Given the description of an element on the screen output the (x, y) to click on. 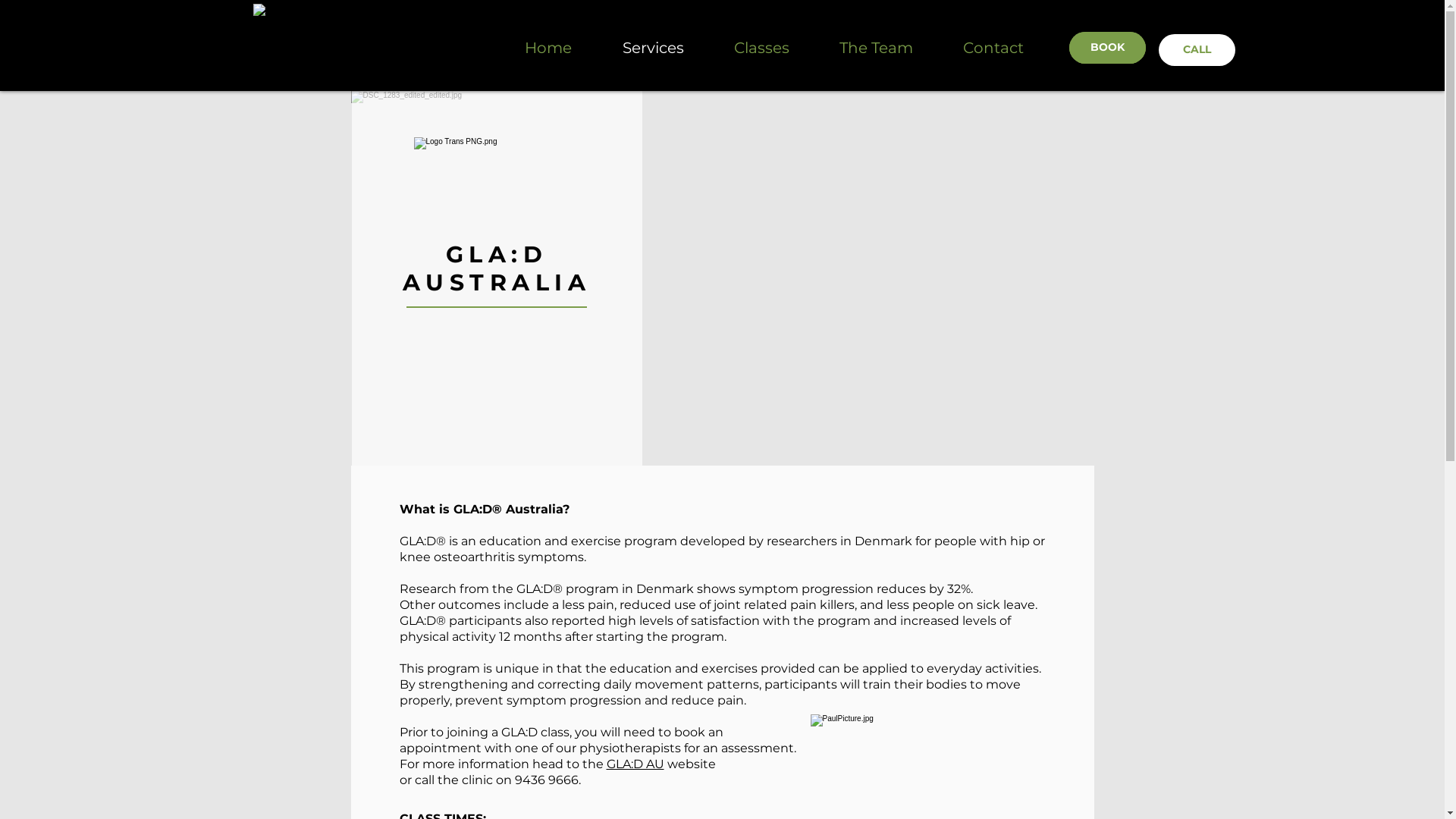
Classes Element type: text (774, 47)
Home Element type: text (560, 47)
BOOK Element type: text (1107, 47)
The Team Element type: text (888, 47)
Contact Element type: text (1005, 47)
Services Element type: text (665, 47)
CALL Element type: text (1196, 49)
GLA:D AU Element type: text (635, 763)
